Given the description of an element on the screen output the (x, y) to click on. 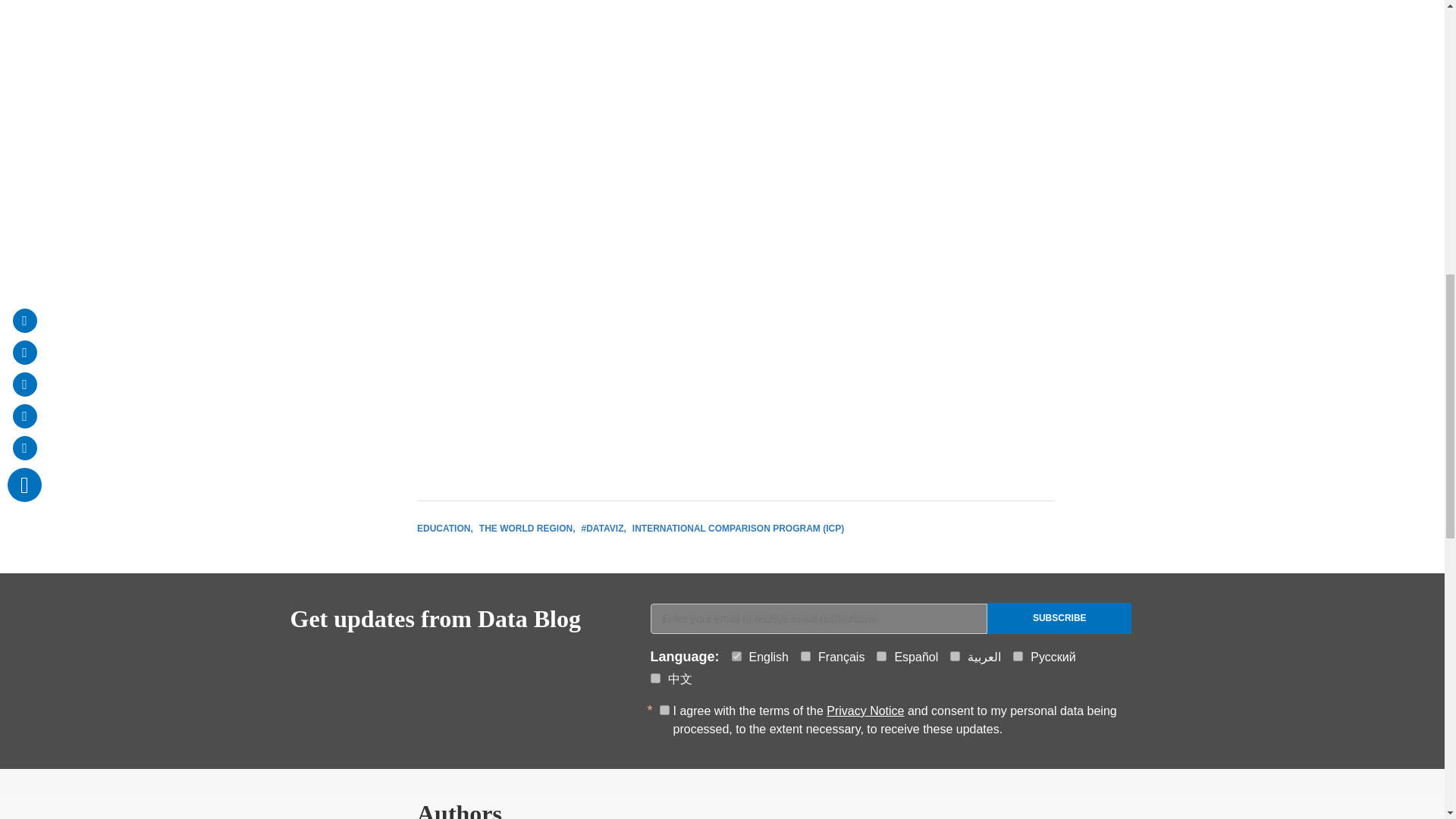
Privacy Notice (865, 710)
fr (805, 655)
1 (664, 709)
zh (655, 678)
ar (954, 655)
THE WORLD REGION (527, 528)
EDUCATION (444, 528)
SUBSCRIBE (1059, 617)
